Given the description of an element on the screen output the (x, y) to click on. 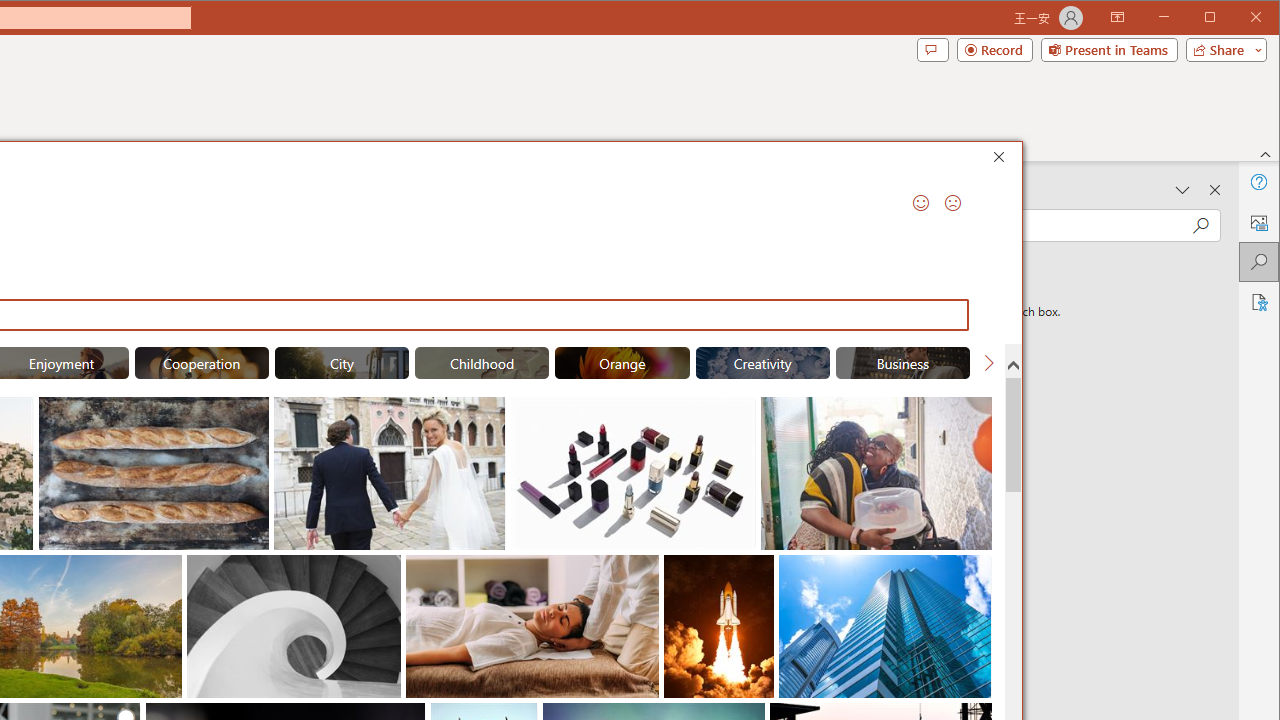
"Orange" Stock Images. (622, 362)
"City" Stock Images. (342, 362)
Thumbnail (977, 569)
Alt Text (1258, 221)
"Childhood" Stock Images. (481, 362)
